Given the description of an element on the screen output the (x, y) to click on. 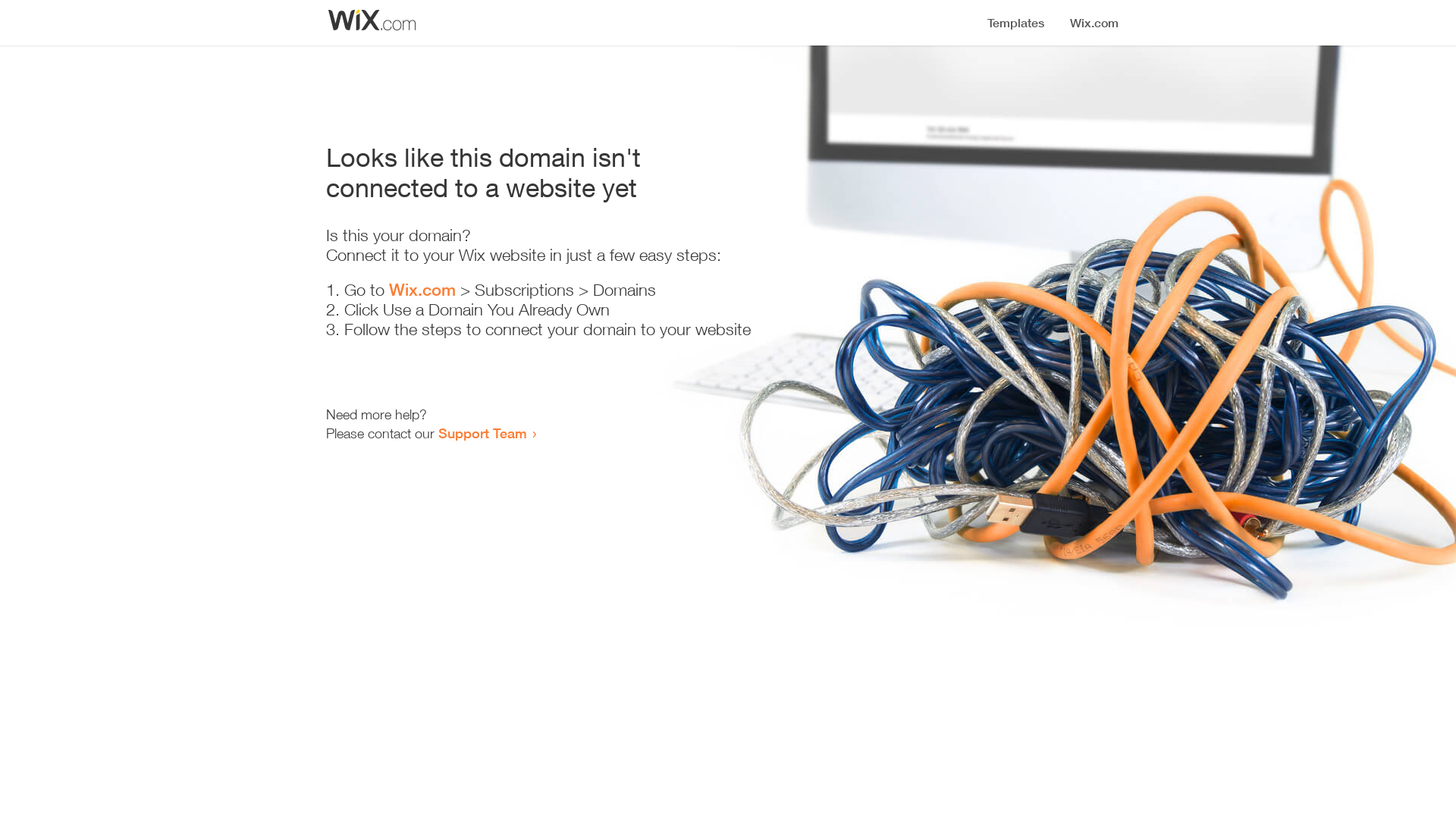
Support Team Element type: text (482, 432)
Wix.com Element type: text (422, 289)
